Given the description of an element on the screen output the (x, y) to click on. 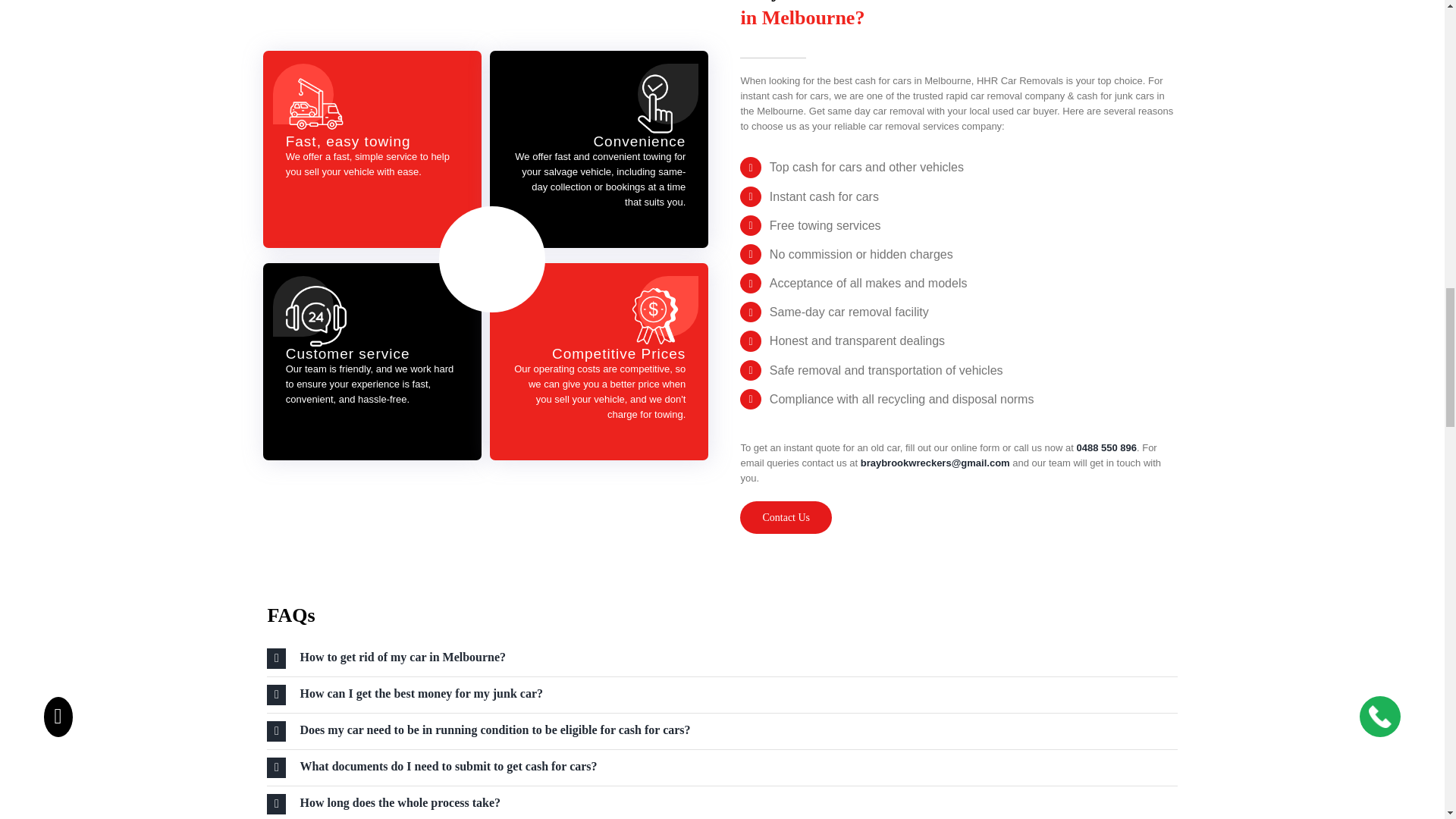
What documents do I need to submit to get cash for cars? (721, 767)
0488 550 896 (1106, 446)
How can I get the best money for my junk car? (721, 694)
Contact Us (312, 514)
How to get rid of my car in Melbourne? (721, 658)
How long does the whole process take? (721, 802)
Contact Us (785, 516)
